Given the description of an element on the screen output the (x, y) to click on. 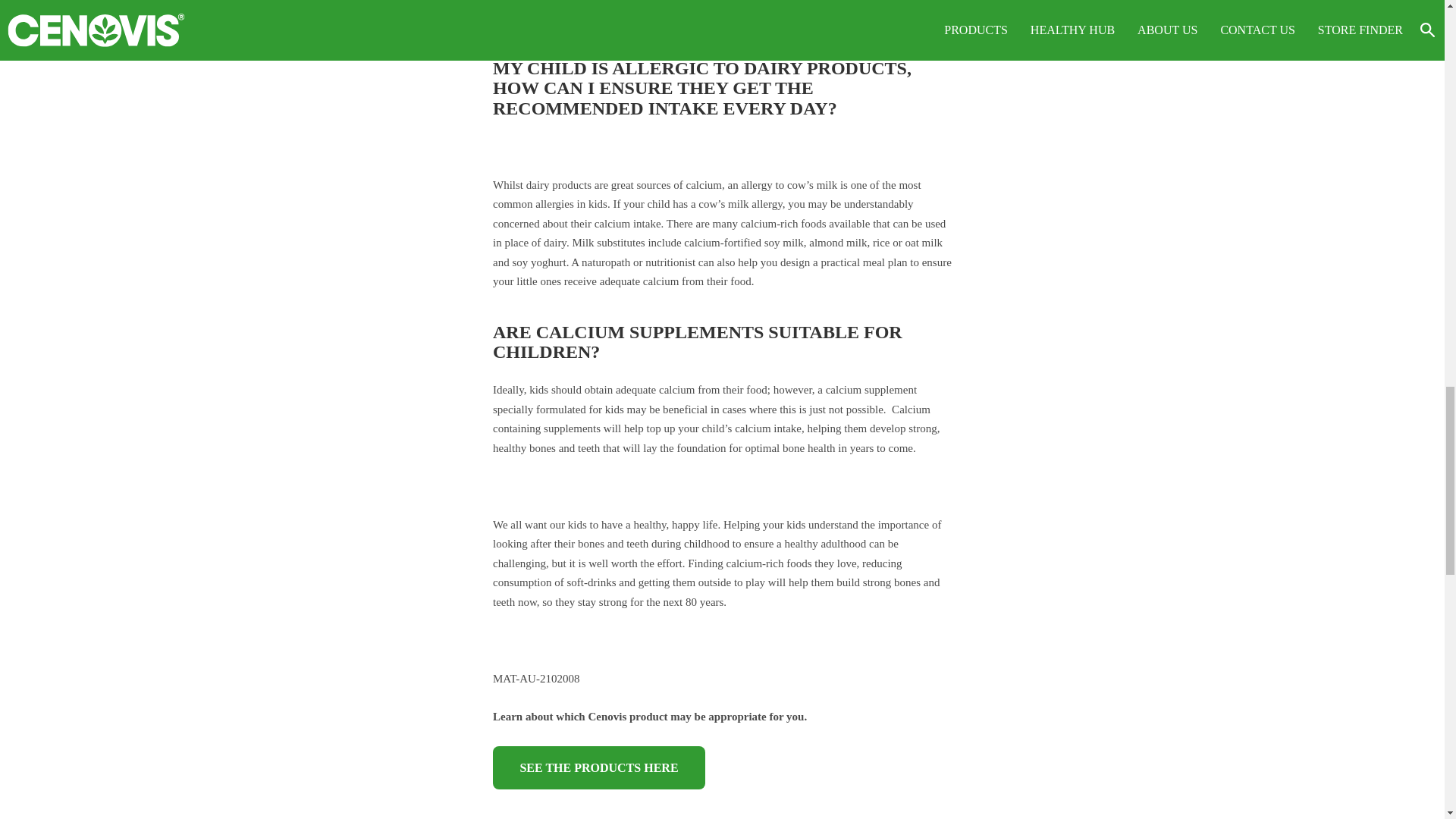
SEE THE PRODUCTS HERE (598, 767)
